Given the description of an element on the screen output the (x, y) to click on. 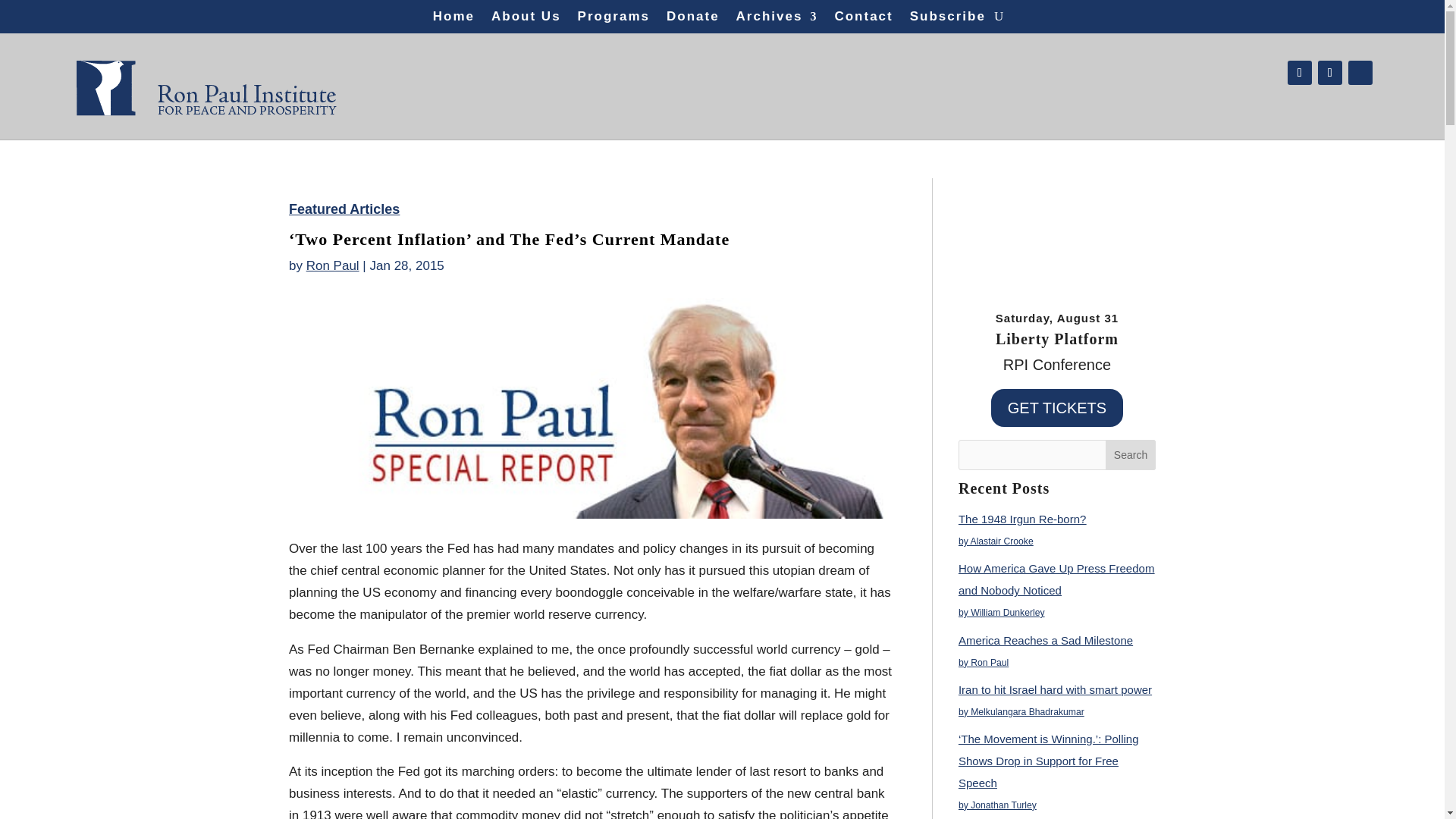
Subscribe (947, 19)
Archives (777, 19)
GET TICKETS (1056, 407)
Posts by Ron Paul (332, 265)
The 1948 Irgun Re-born? (1022, 518)
Home (453, 19)
Contact (863, 19)
Follow on Facebook (1299, 72)
Follow on Youtube (1360, 72)
About Us (526, 19)
